Given the description of an element on the screen output the (x, y) to click on. 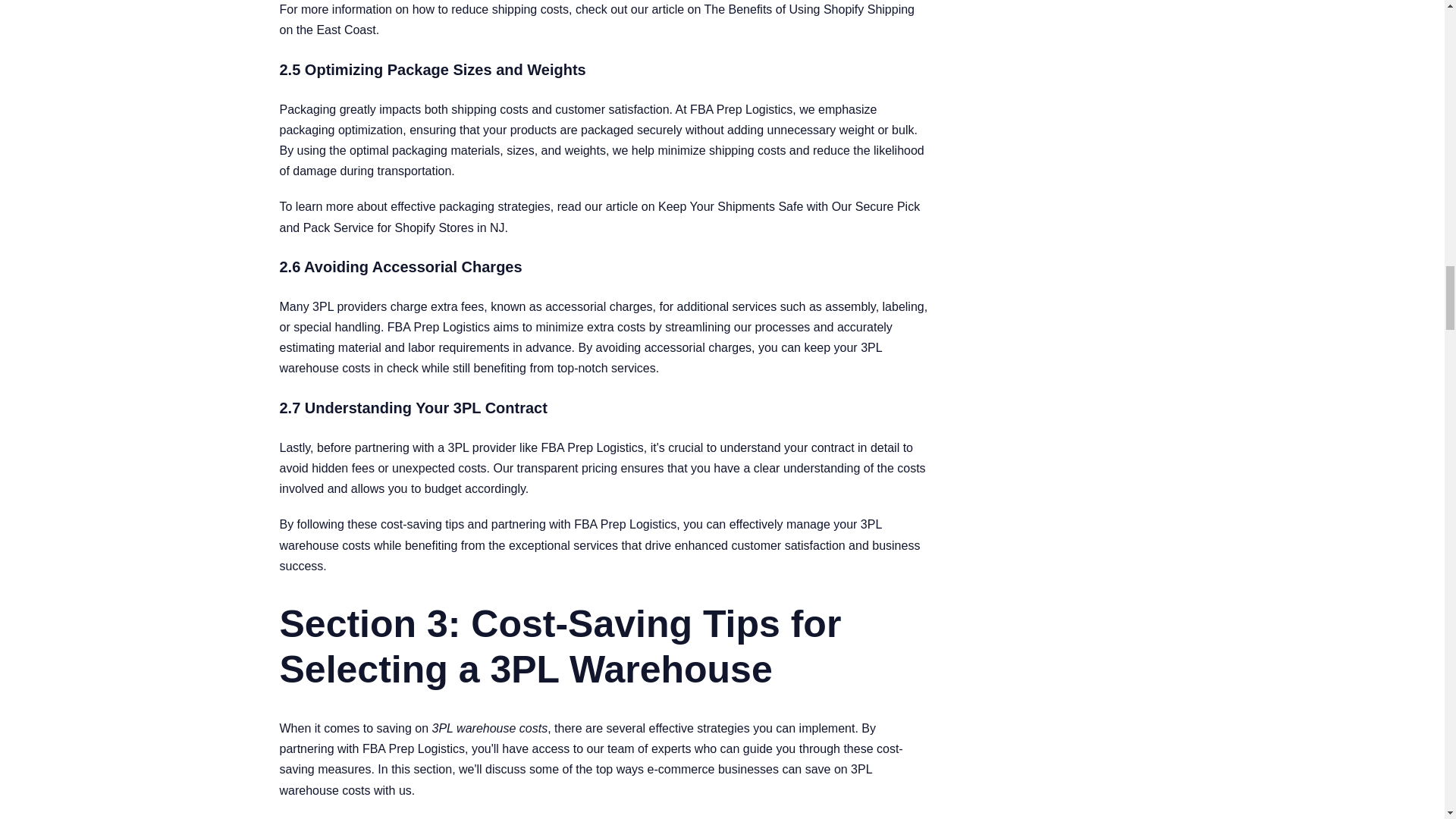
The Benefits of Using Shopify Shipping on the East Coast (596, 19)
